Given the description of an element on the screen output the (x, y) to click on. 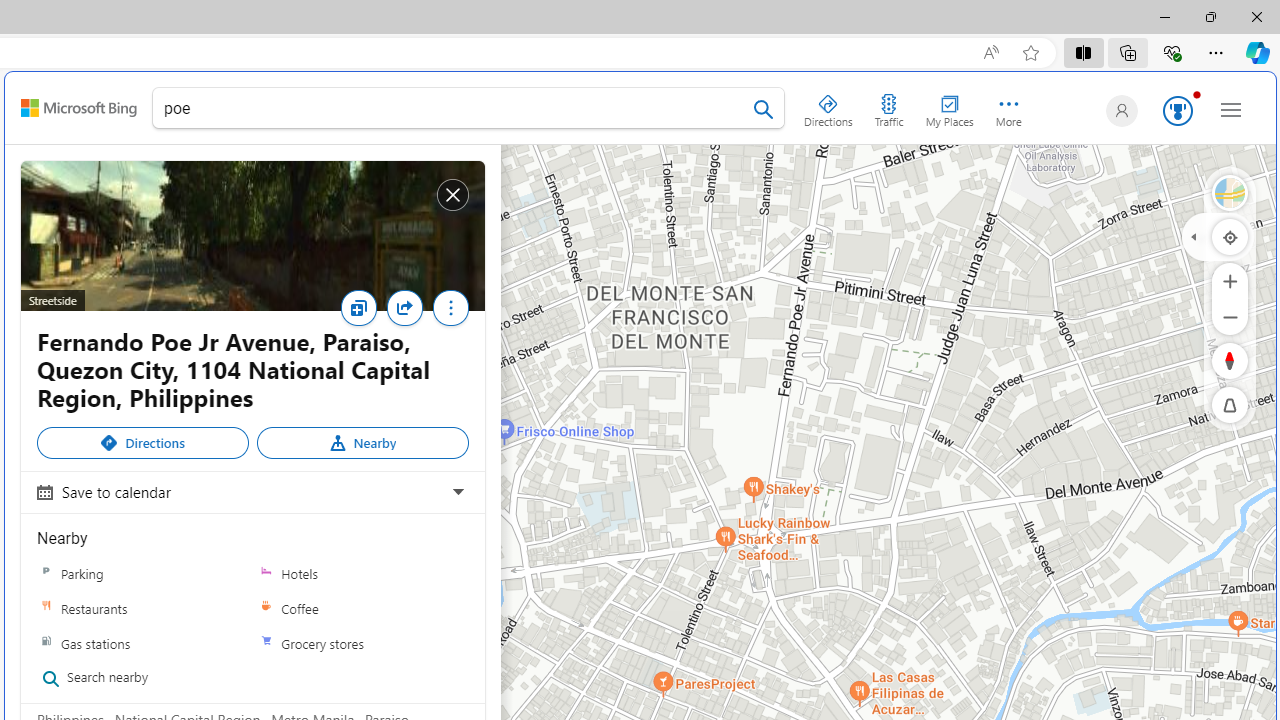
Directions (143, 442)
Gas stations (143, 642)
Traffic (888, 106)
My Places (949, 106)
Hotels (362, 573)
Settings and quick links (1231, 109)
Save (358, 308)
Reset to Default Pitch (1230, 405)
Grocery stores (266, 643)
Coffee (266, 609)
Search Bing Maps (763, 109)
Streetside (252, 236)
